Given the description of an element on the screen output the (x, y) to click on. 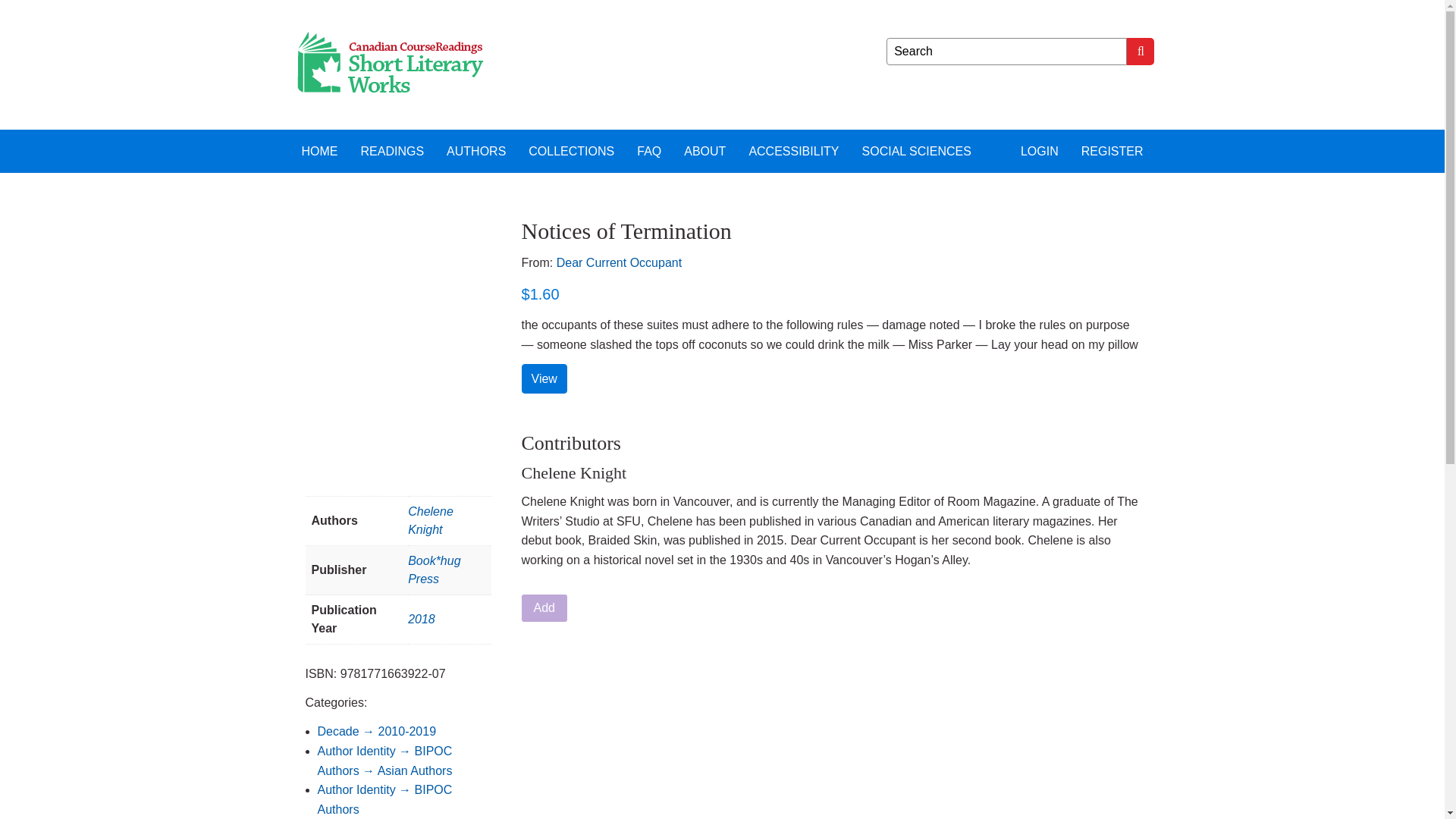
AUTHORS (475, 150)
COLLECTIONS (571, 150)
FAQ (649, 150)
Add (544, 607)
ABOUT (704, 150)
HOME (319, 150)
ACCESSIBILITY (793, 150)
Home (319, 150)
Chelene Knight (429, 520)
FAQ (649, 150)
